Given the description of an element on the screen output the (x, y) to click on. 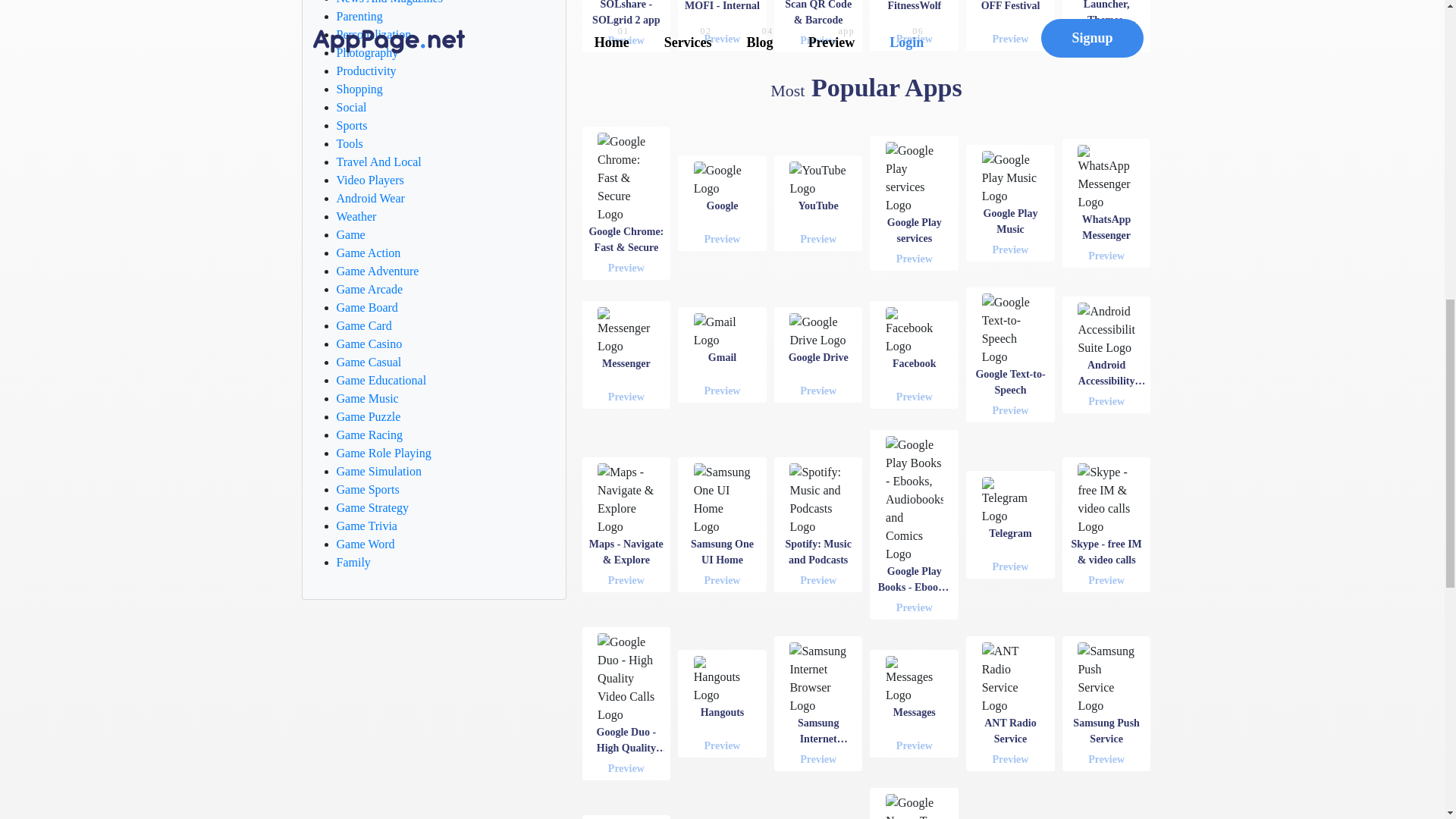
Messenger Logo (624, 331)
WhatsApp Messenger (1105, 255)
Google Drive (817, 390)
Facebook Logo (913, 331)
Google Play Music (1009, 249)
Google (722, 239)
Messenger (626, 397)
Gmail (722, 390)
Google Drive Logo (817, 330)
YouTube (817, 239)
Google Logo (722, 179)
Google Play Music Logo (1010, 177)
Facebook (914, 397)
Gmail Logo (722, 330)
Google Play services (914, 258)
